Given the description of an element on the screen output the (x, y) to click on. 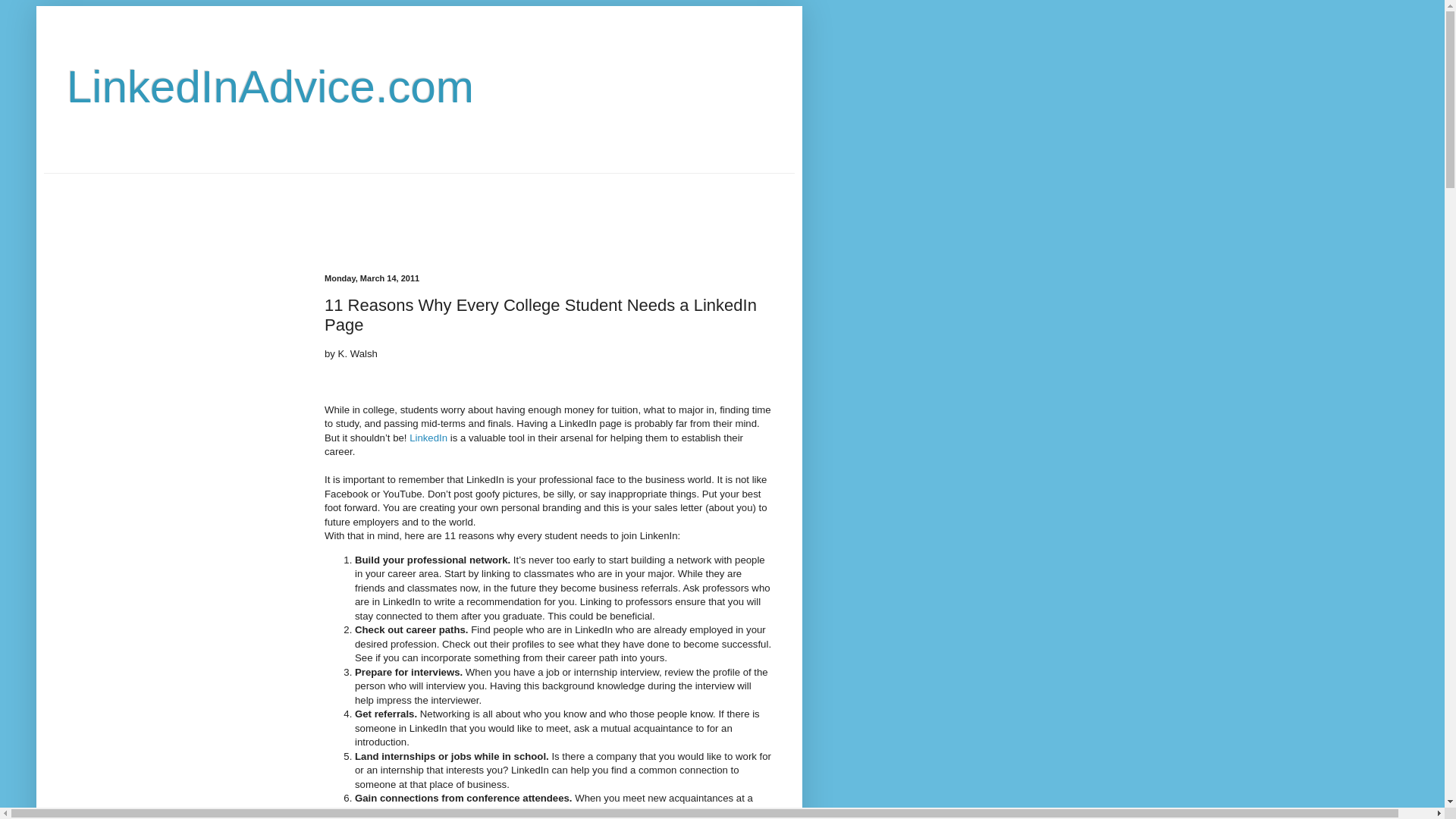
Advertisement (319, 207)
LinkedIn (427, 437)
LinkedInAdvice.com (270, 86)
